Given the description of an element on the screen output the (x, y) to click on. 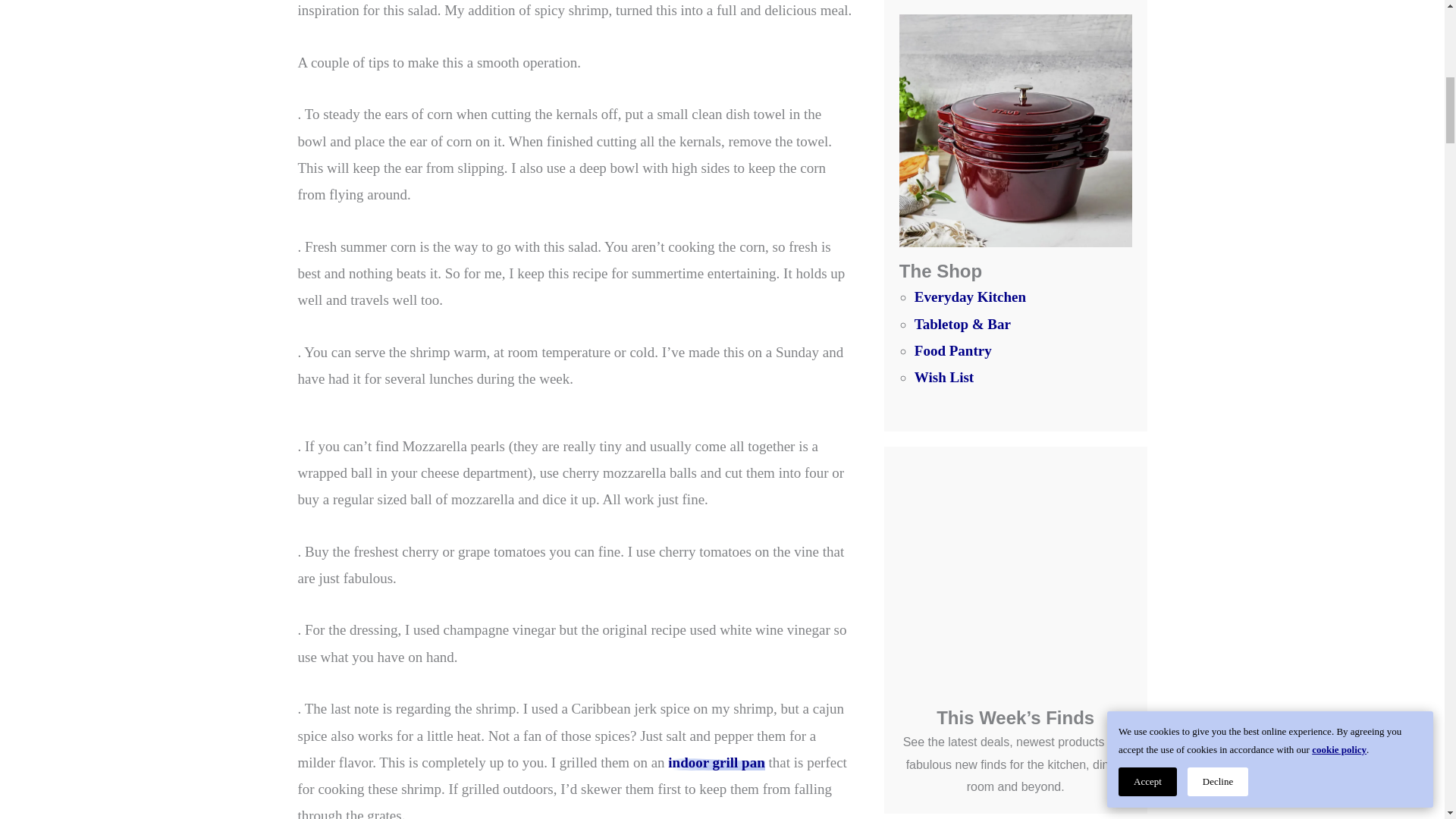
My Curated Tastes (716, 762)
